Given the description of an element on the screen output the (x, y) to click on. 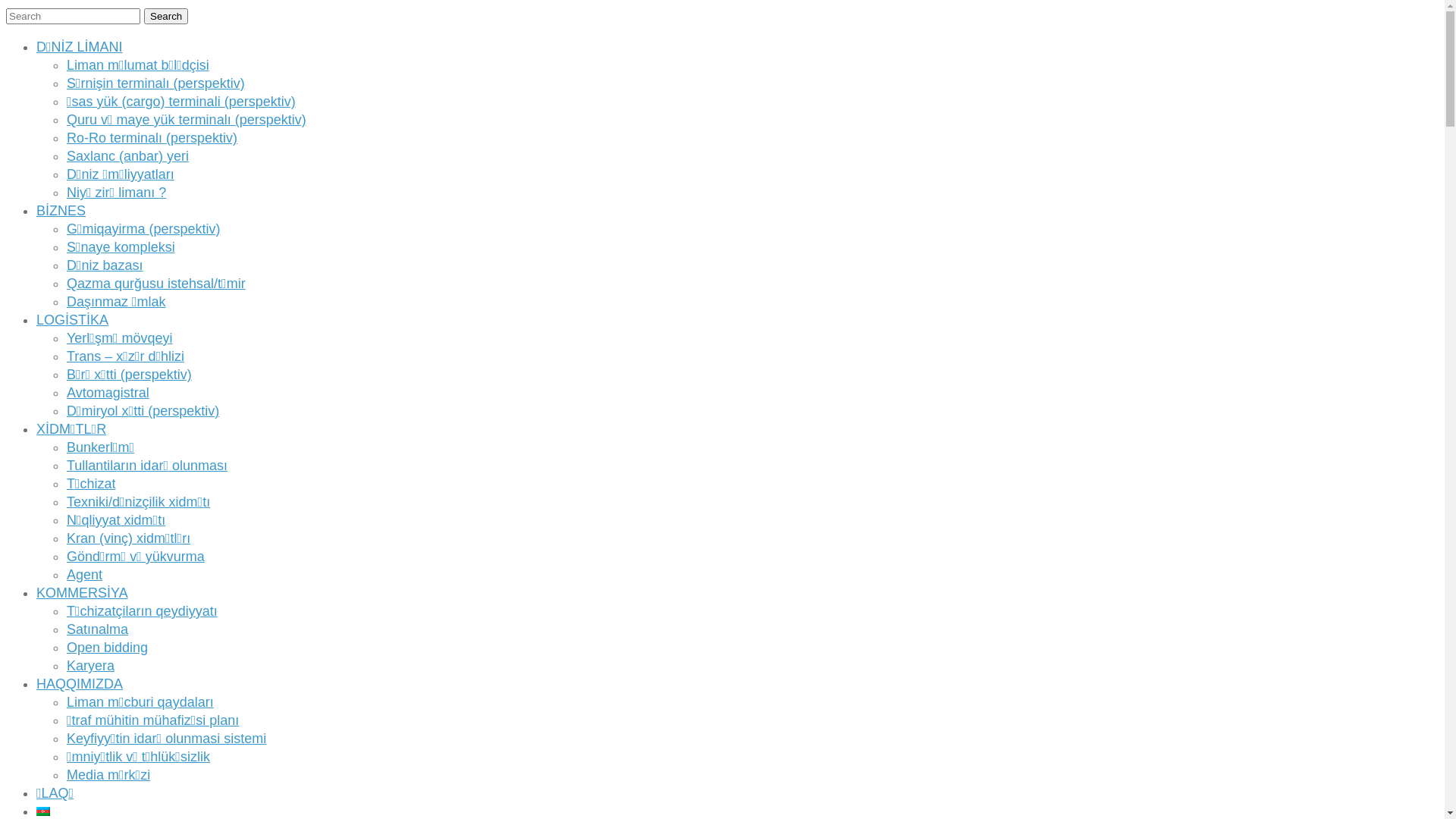
HAQQIMIZDA Element type: text (79, 683)
Avtomagistral Element type: text (107, 392)
Saxlanc (anbar) yeri Element type: text (127, 155)
Agent Element type: text (84, 574)
Azerbaijani Element type: hover (43, 810)
Search Element type: text (166, 16)
Open bidding Element type: text (106, 647)
Karyera Element type: text (90, 665)
